Given the description of an element on the screen output the (x, y) to click on. 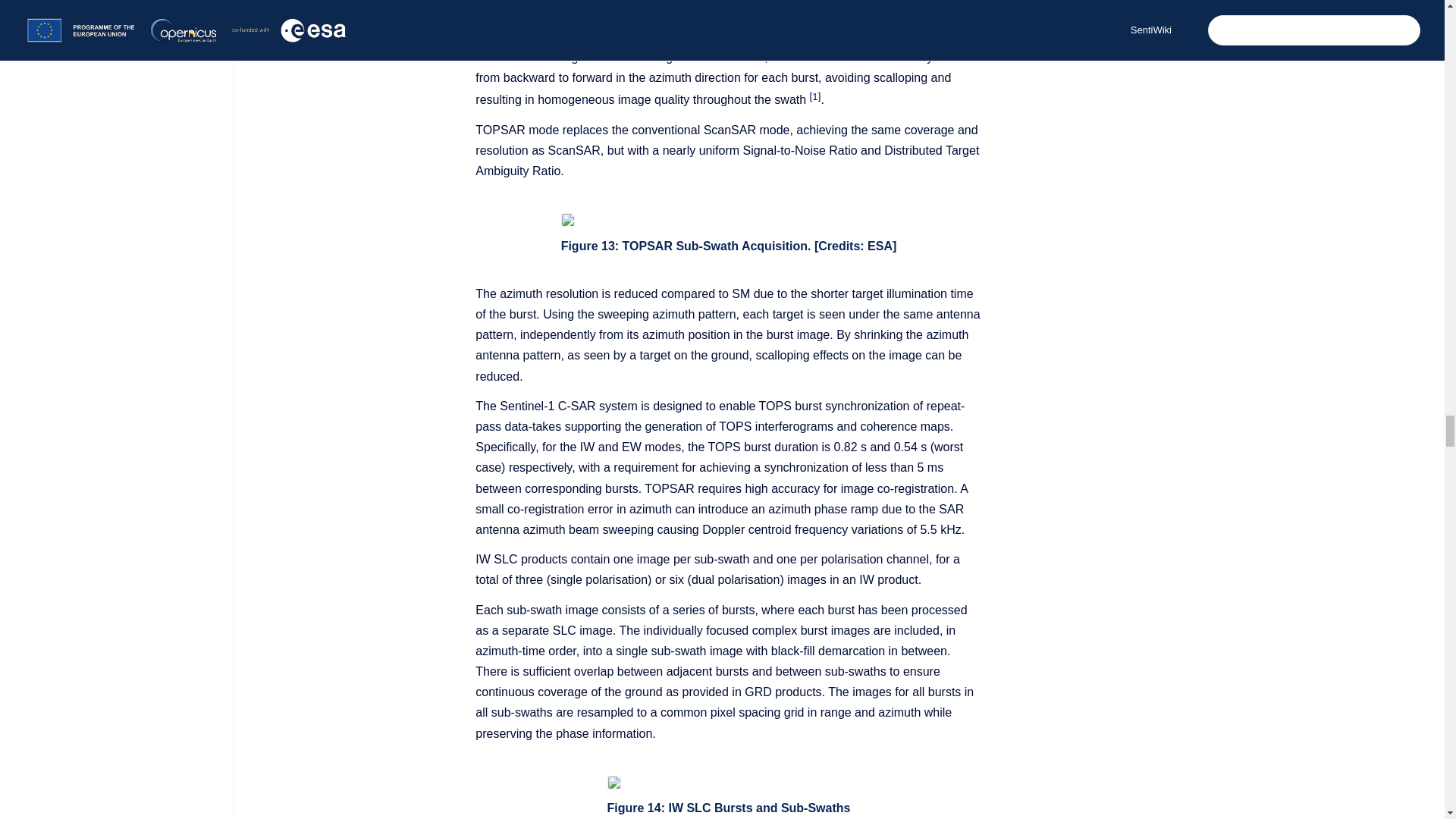
1 (814, 100)
